Given the description of an element on the screen output the (x, y) to click on. 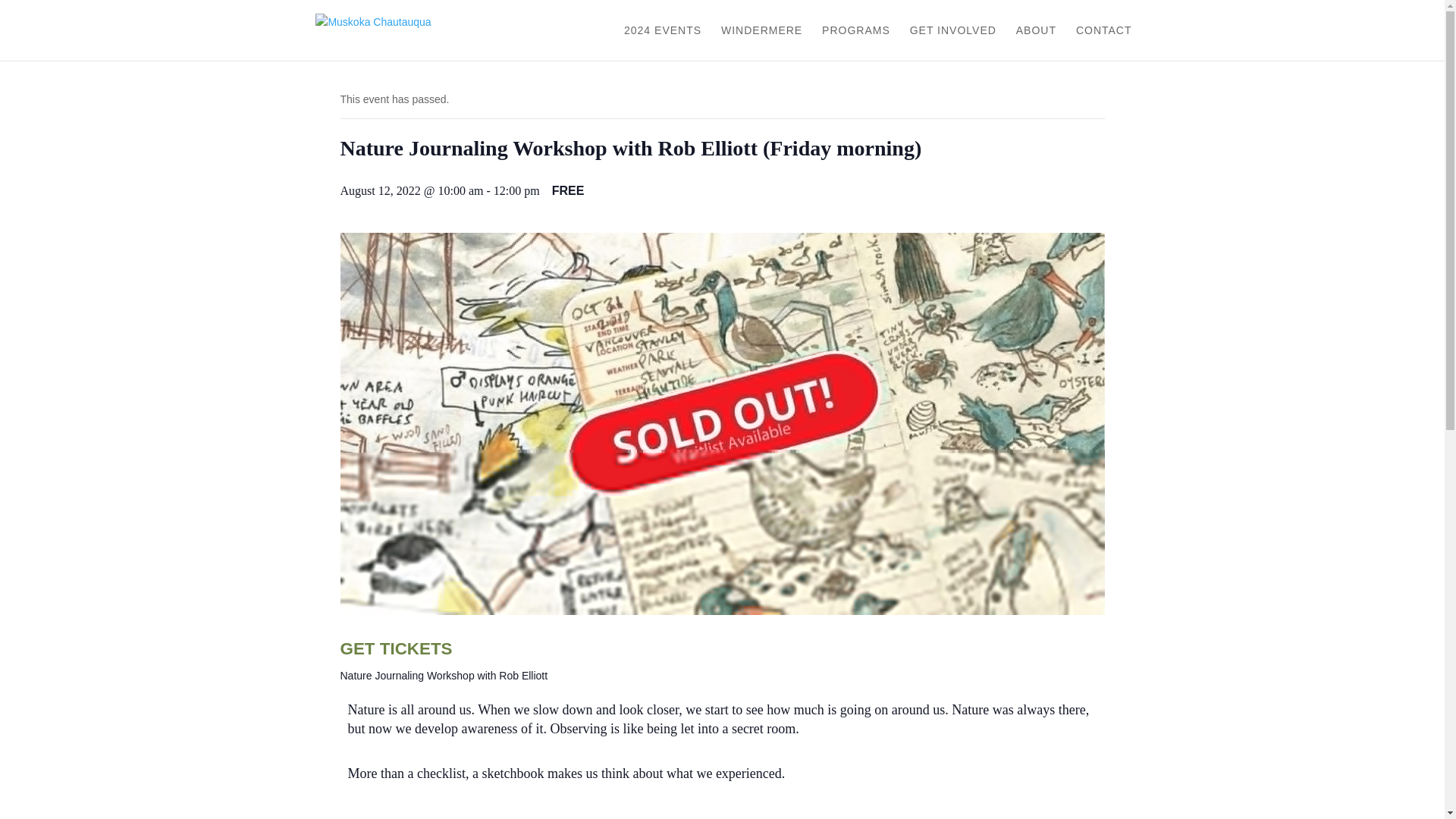
WINDERMERE (761, 42)
2024 EVENTS (662, 42)
PROGRAMS (855, 42)
ABOUT (1036, 42)
GET INVOLVED (952, 42)
CONTACT (1103, 42)
